Given the description of an element on the screen output the (x, y) to click on. 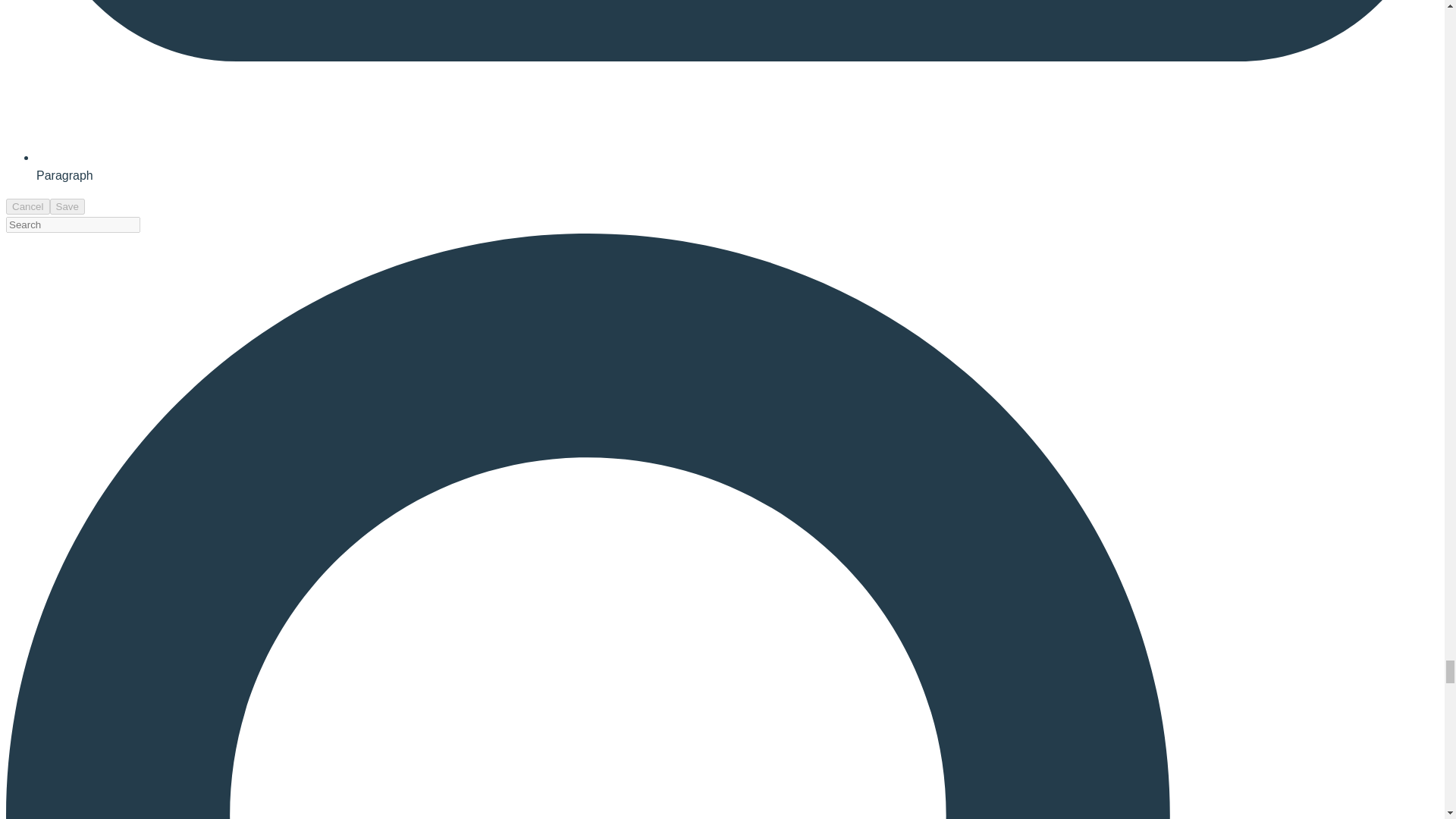
Save (66, 206)
Cancel (27, 206)
